Given the description of an element on the screen output the (x, y) to click on. 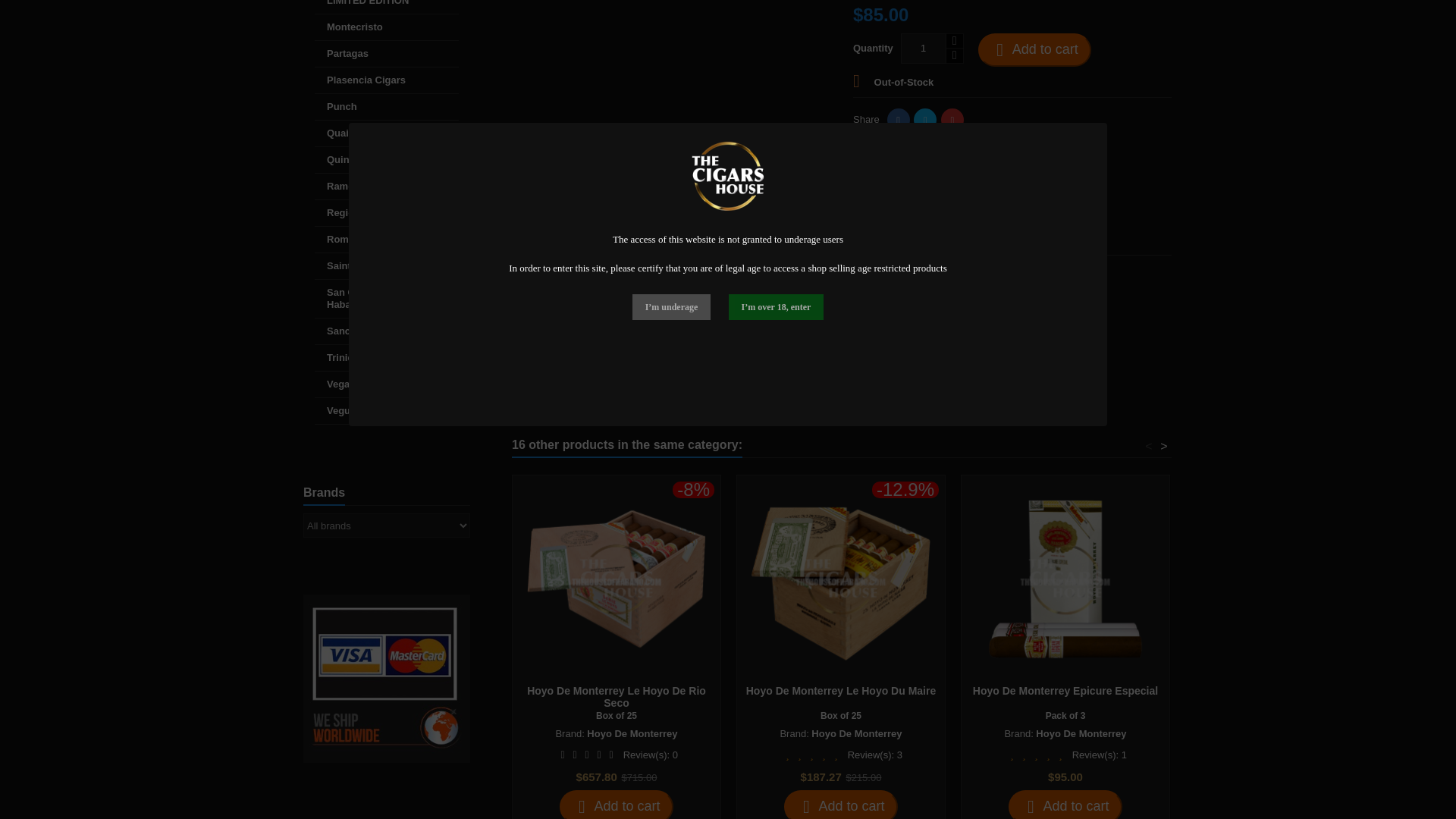
Share (898, 119)
Pinterest (951, 119)
Tweet (925, 119)
